Given the description of an element on the screen output the (x, y) to click on. 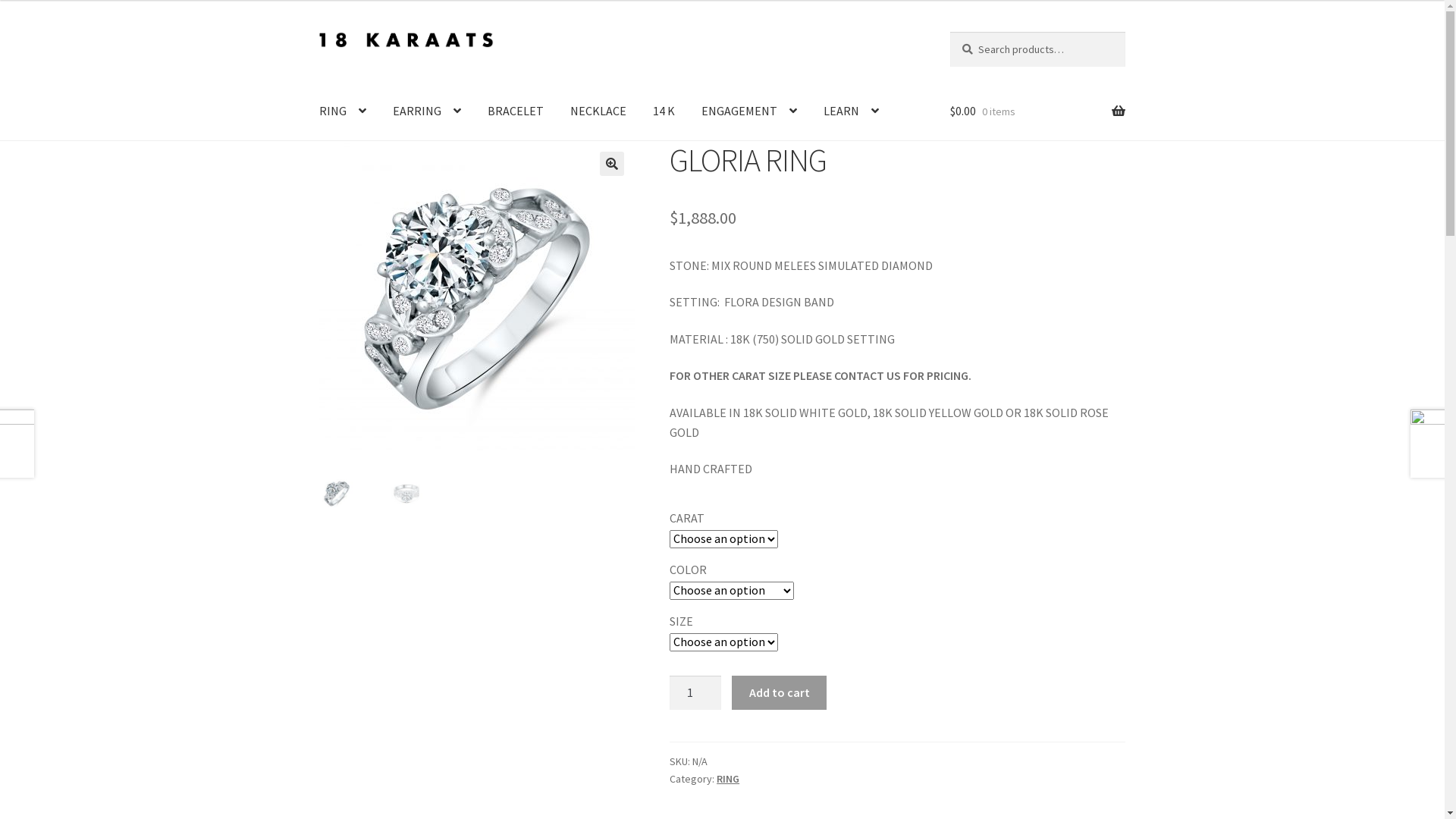
Search Element type: text (949, 31)
Skip to navigation Element type: text (318, 31)
DSC_6437 Element type: hover (792, 298)
NECKLACE Element type: text (598, 111)
Add to cart Element type: text (778, 692)
DSC_6437_ Element type: hover (476, 298)
14 K Element type: text (663, 111)
ENGAGEMENT Element type: text (749, 111)
$0.00 0 items Element type: text (1037, 111)
RING Element type: text (342, 111)
BRACELET Element type: text (515, 111)
LEARN Element type: text (851, 111)
EARRING Element type: text (426, 111)
RING Element type: text (727, 778)
